Given the description of an element on the screen output the (x, y) to click on. 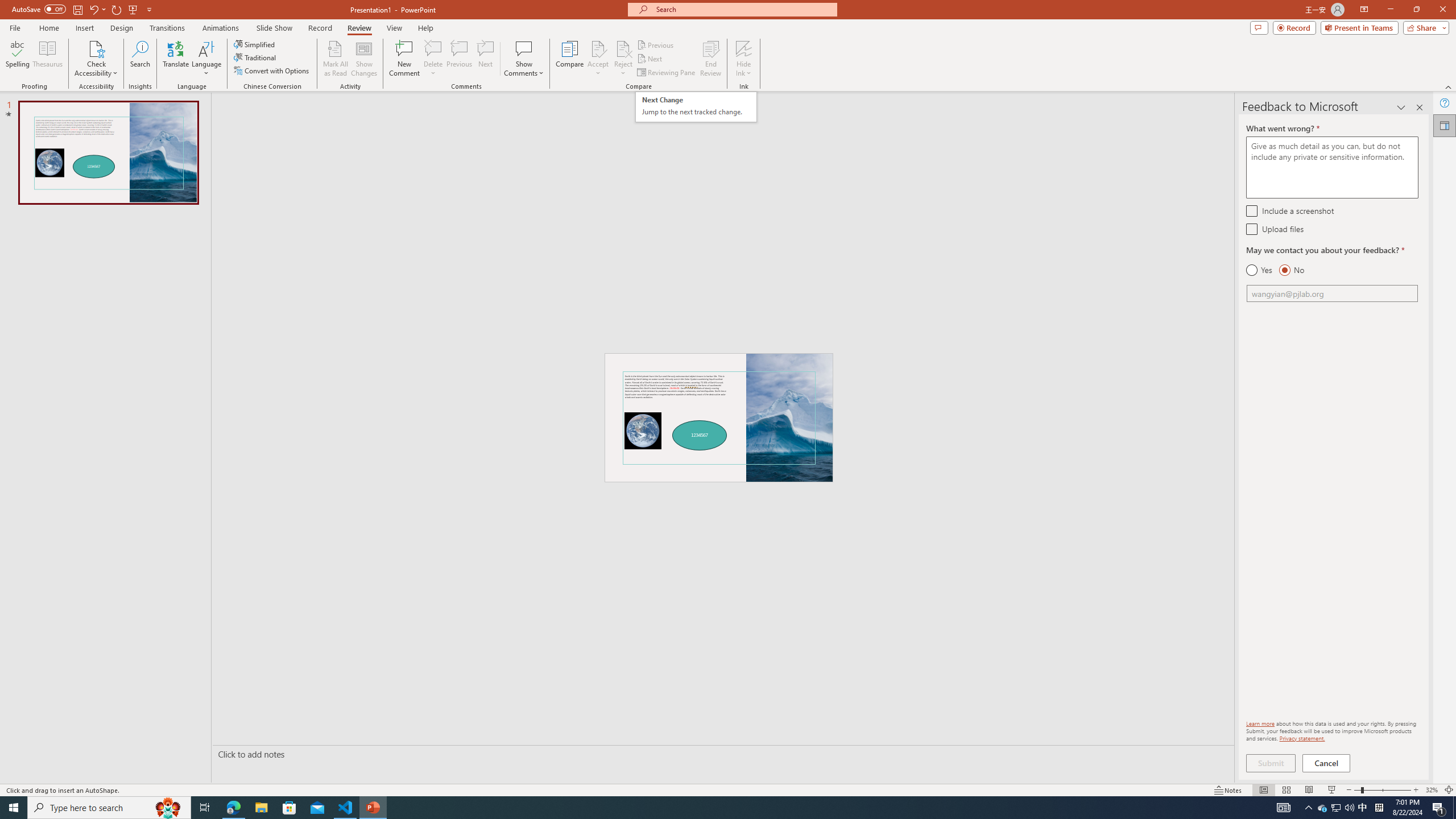
Submit (1270, 763)
Reviewing Pane (666, 72)
Delete (432, 58)
Show Comments (524, 58)
Delete (432, 48)
